Given the description of an element on the screen output the (x, y) to click on. 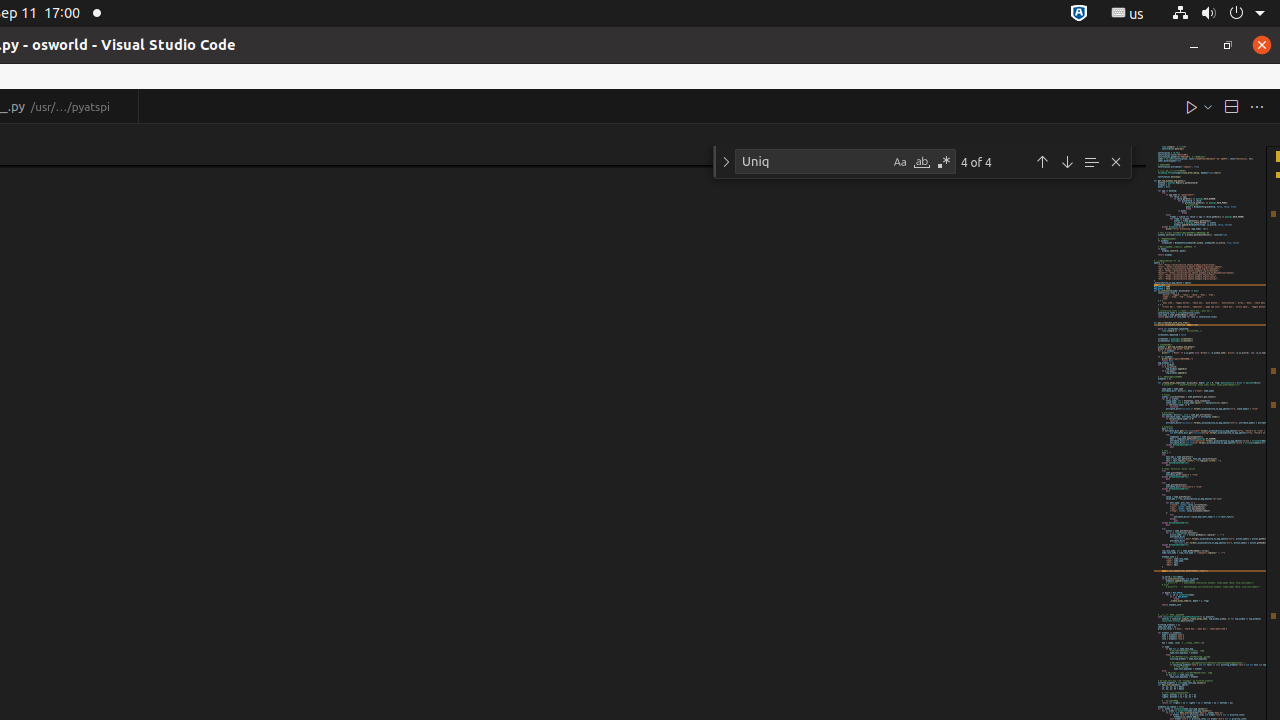
Match Case (Alt+C) Element type: check-box (900, 162)
Toggle Replace Element type: push-button (726, 162)
Run Python File Element type: push-button (1192, 106)
Close (Ctrl+W) Element type: push-button (124, 106)
Find in Selection (Alt+L) Element type: check-box (1091, 161)
